Given the description of an element on the screen output the (x, y) to click on. 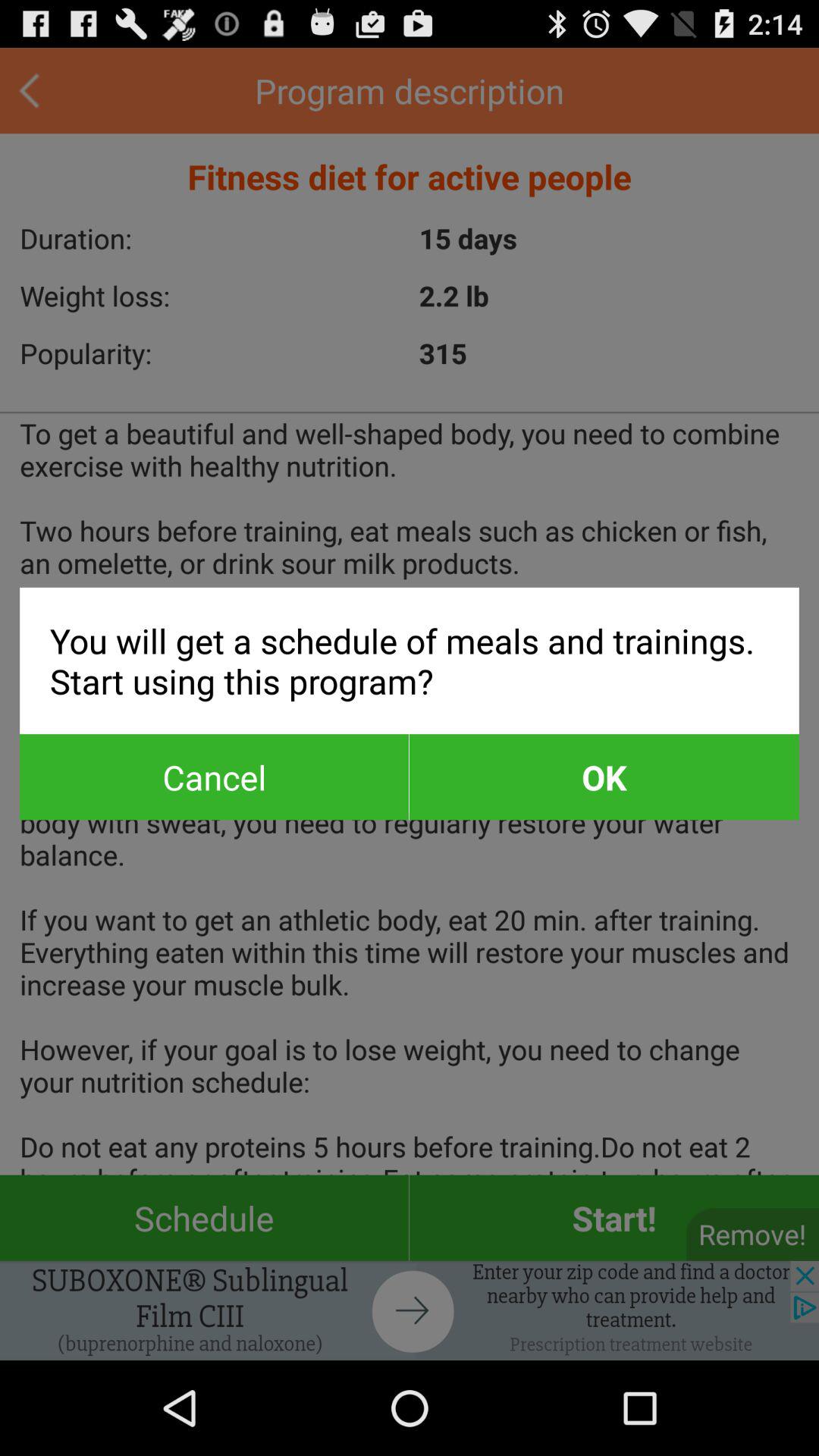
press the item to the right of the cancel icon (604, 777)
